Given the description of an element on the screen output the (x, y) to click on. 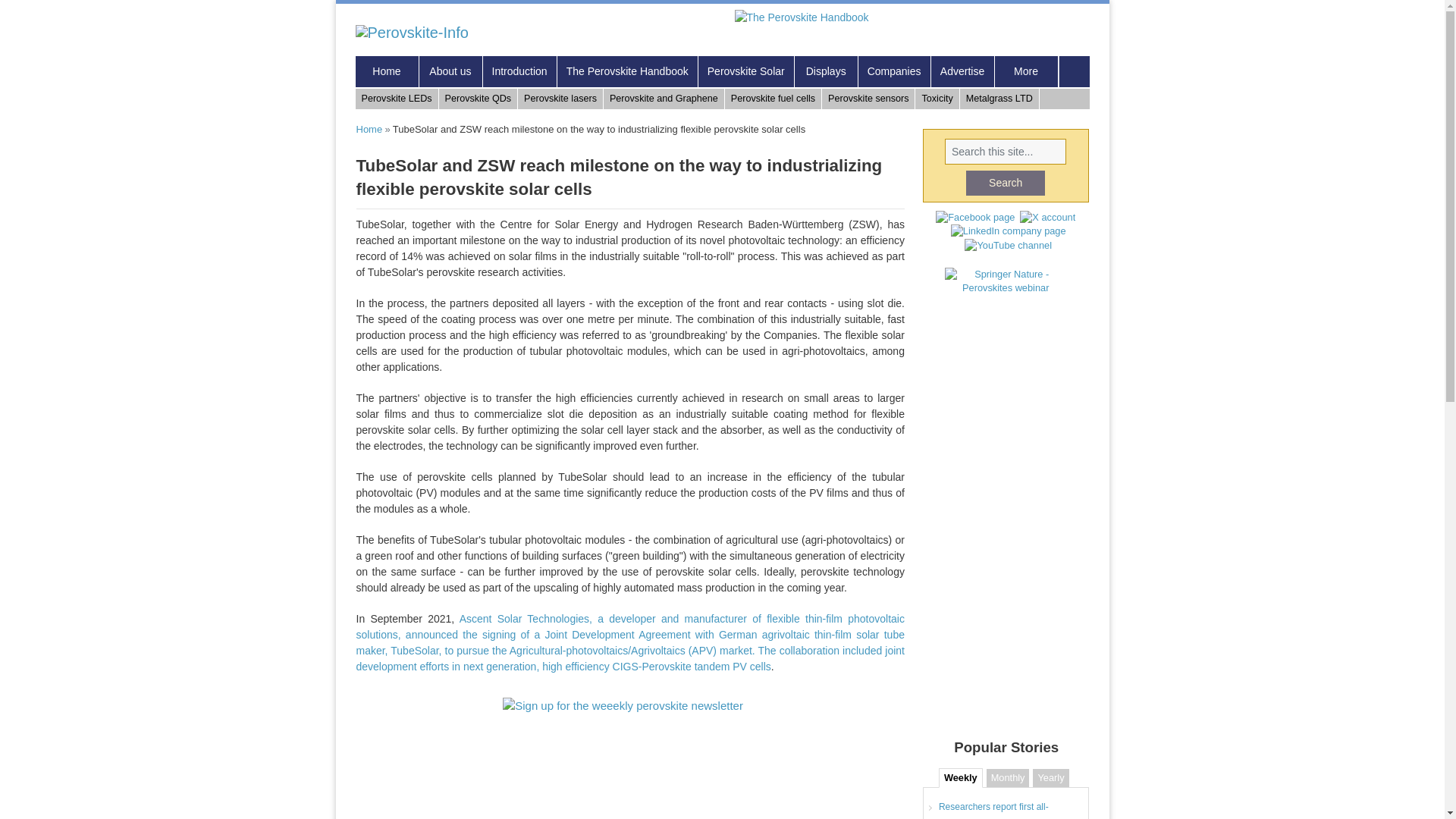
Home (387, 71)
Introduction (518, 71)
Perovskite and Graphene (664, 98)
Perovskite LEDs (396, 98)
Perovskite QDs (478, 98)
Search (1005, 182)
Home (417, 33)
Enter the terms you wish to search for. (1004, 151)
Companies (895, 71)
Metalgrass LTD (999, 98)
